Given the description of an element on the screen output the (x, y) to click on. 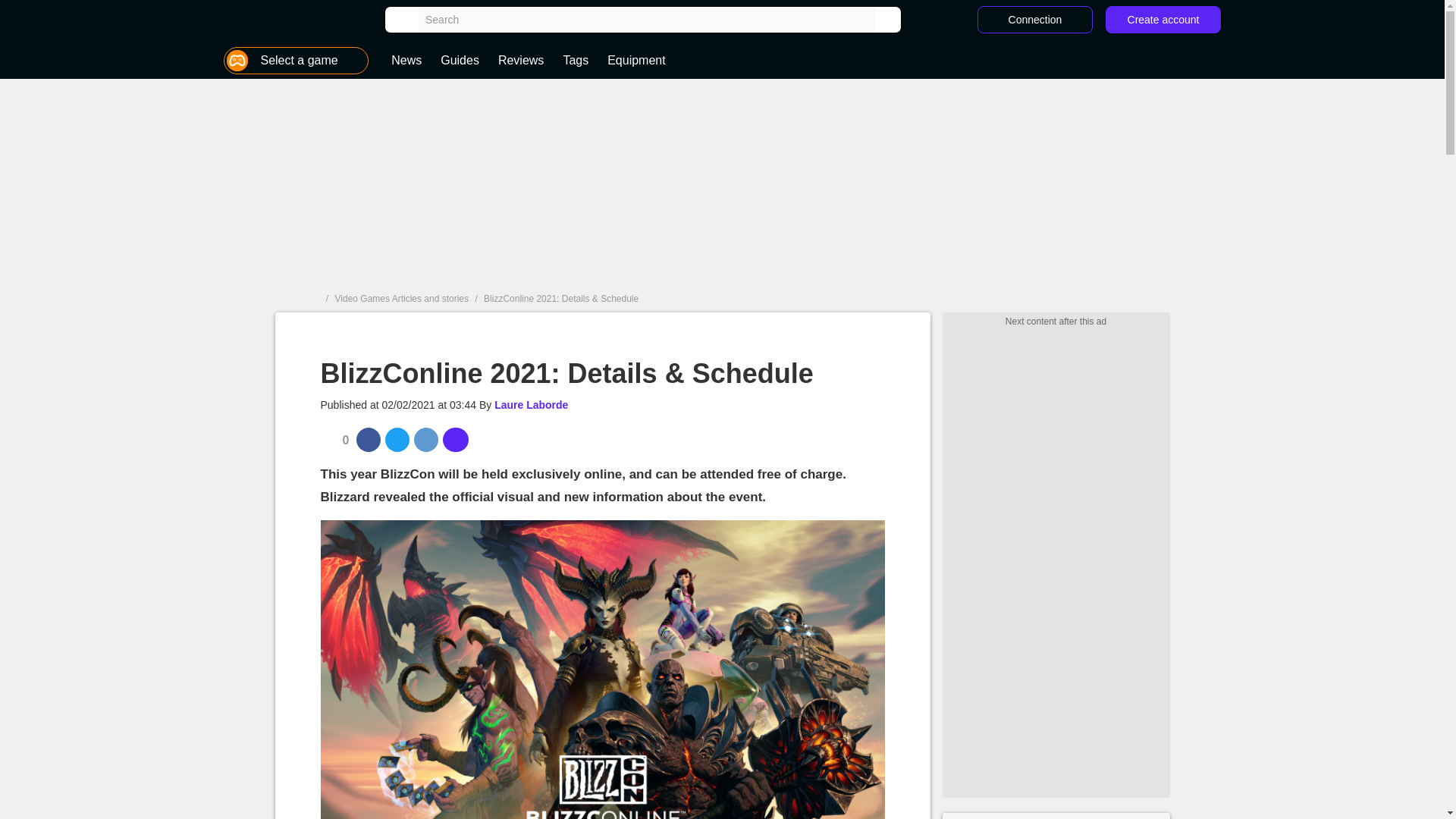
Create account (1163, 19)
Reviews (520, 61)
Guides (459, 61)
News (406, 61)
Connection (1034, 19)
Equipment (634, 61)
Select a game (296, 60)
Tags (574, 61)
